Given the description of an element on the screen output the (x, y) to click on. 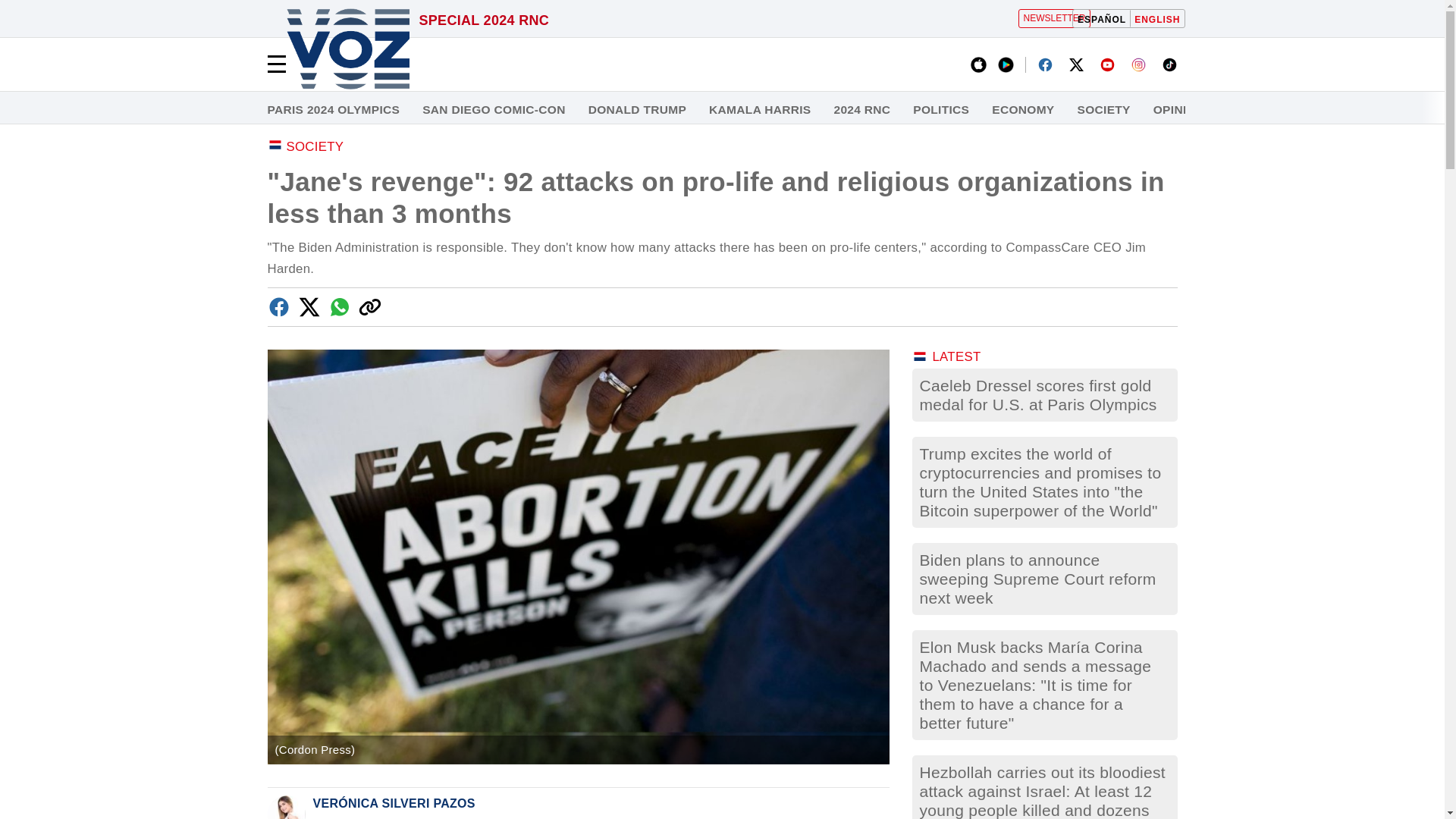
World (1249, 110)
Donald Trump (636, 110)
2024 RNC (483, 20)
POLITICS (940, 110)
SOCIETY (1104, 110)
SAN DIEGO COMIC-CON (493, 110)
NEWSLETTER (1053, 18)
SPECIAL 2024 RNC (483, 20)
DONALD TRUMP (636, 110)
KAMALA HARRIS (759, 110)
Voz.us (347, 50)
Voz.us (347, 50)
PARIS 2024 OLYMPICS (332, 110)
ECONOMY (1022, 110)
Economy (1022, 110)
